Given the description of an element on the screen output the (x, y) to click on. 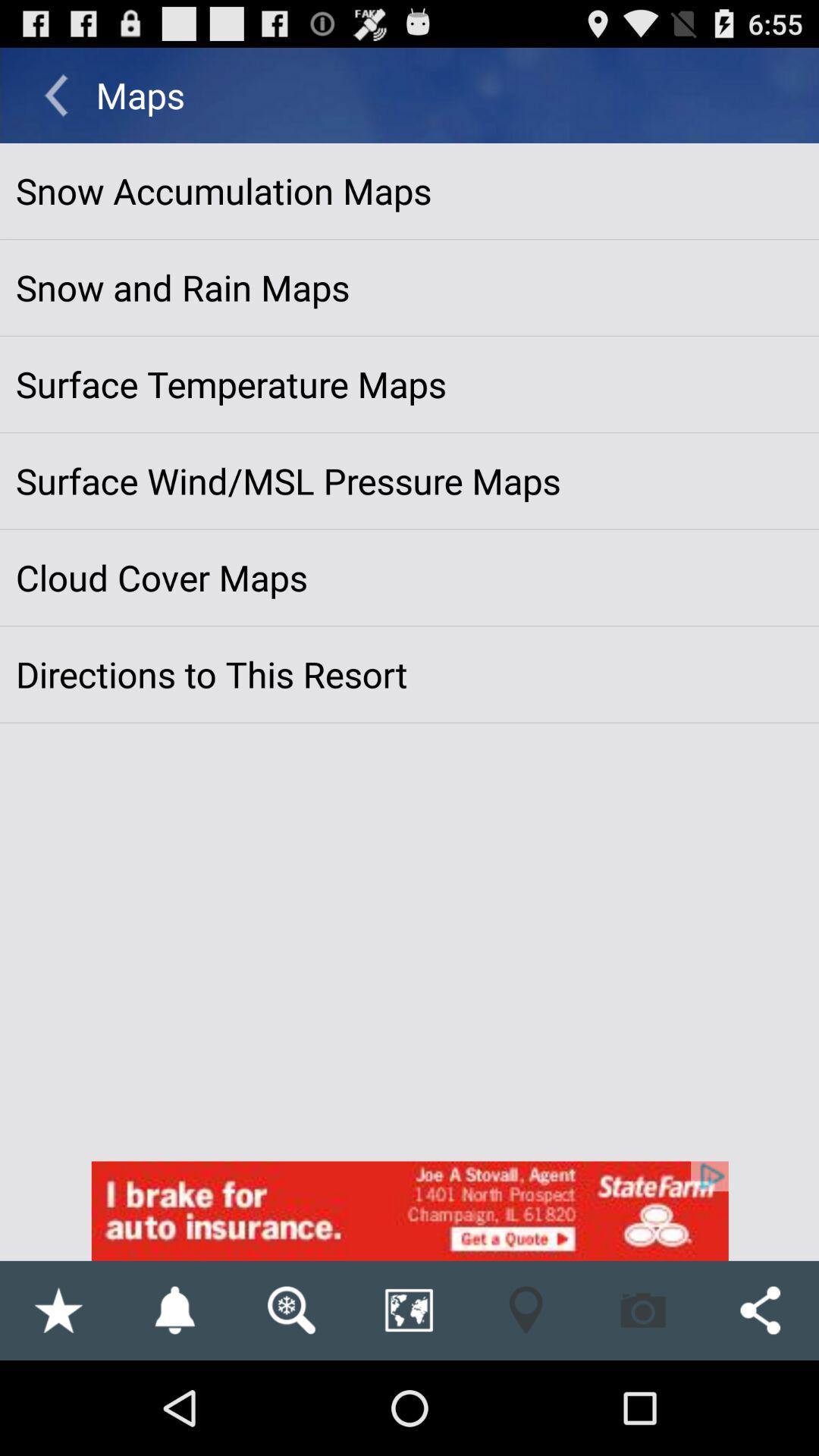
to subscribe (174, 1310)
